Given the description of an element on the screen output the (x, y) to click on. 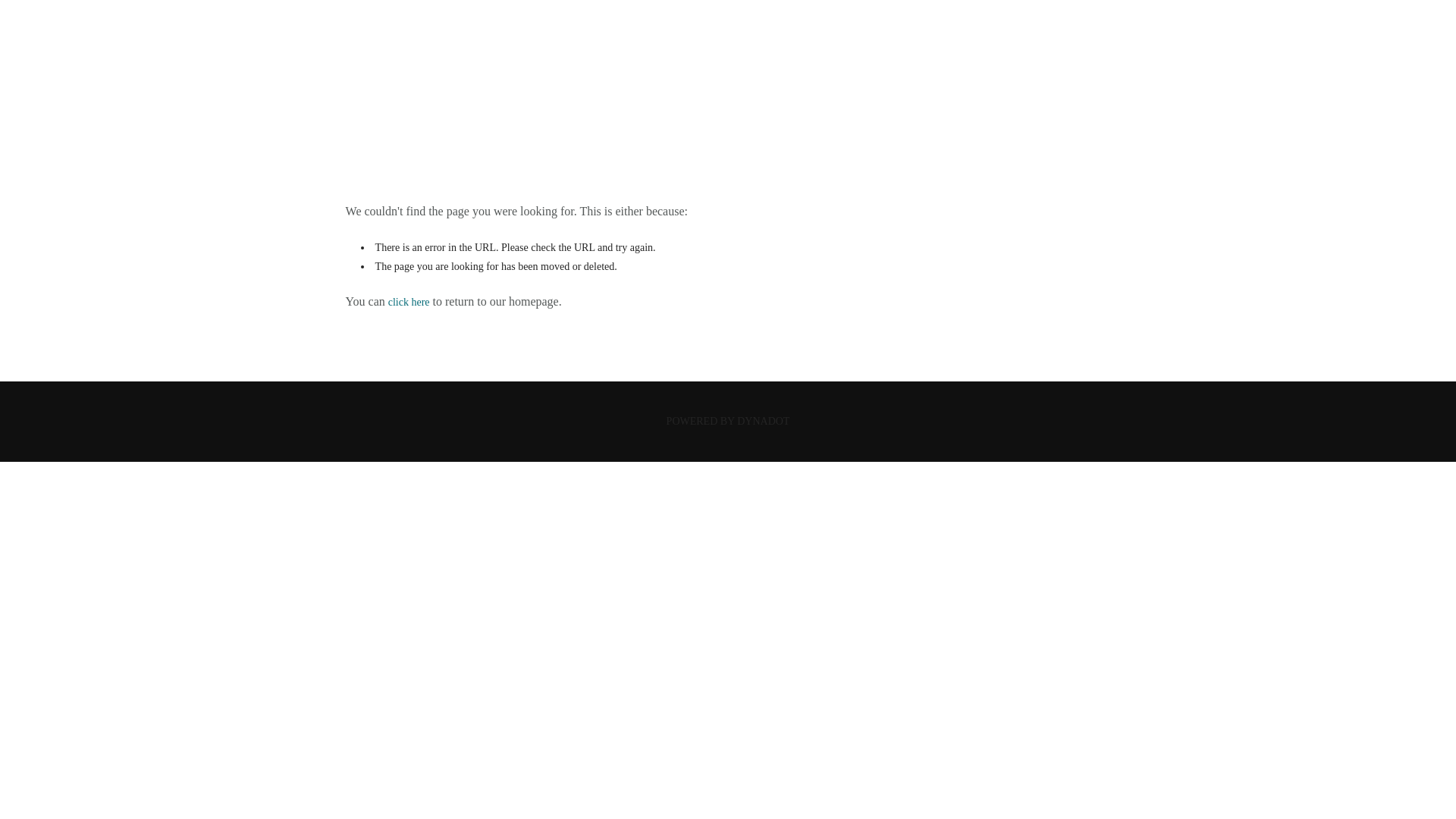
click here (408, 301)
HOME (727, 103)
POWERED BY DYNADOT (728, 420)
JOURNEY (727, 48)
